Given the description of an element on the screen output the (x, y) to click on. 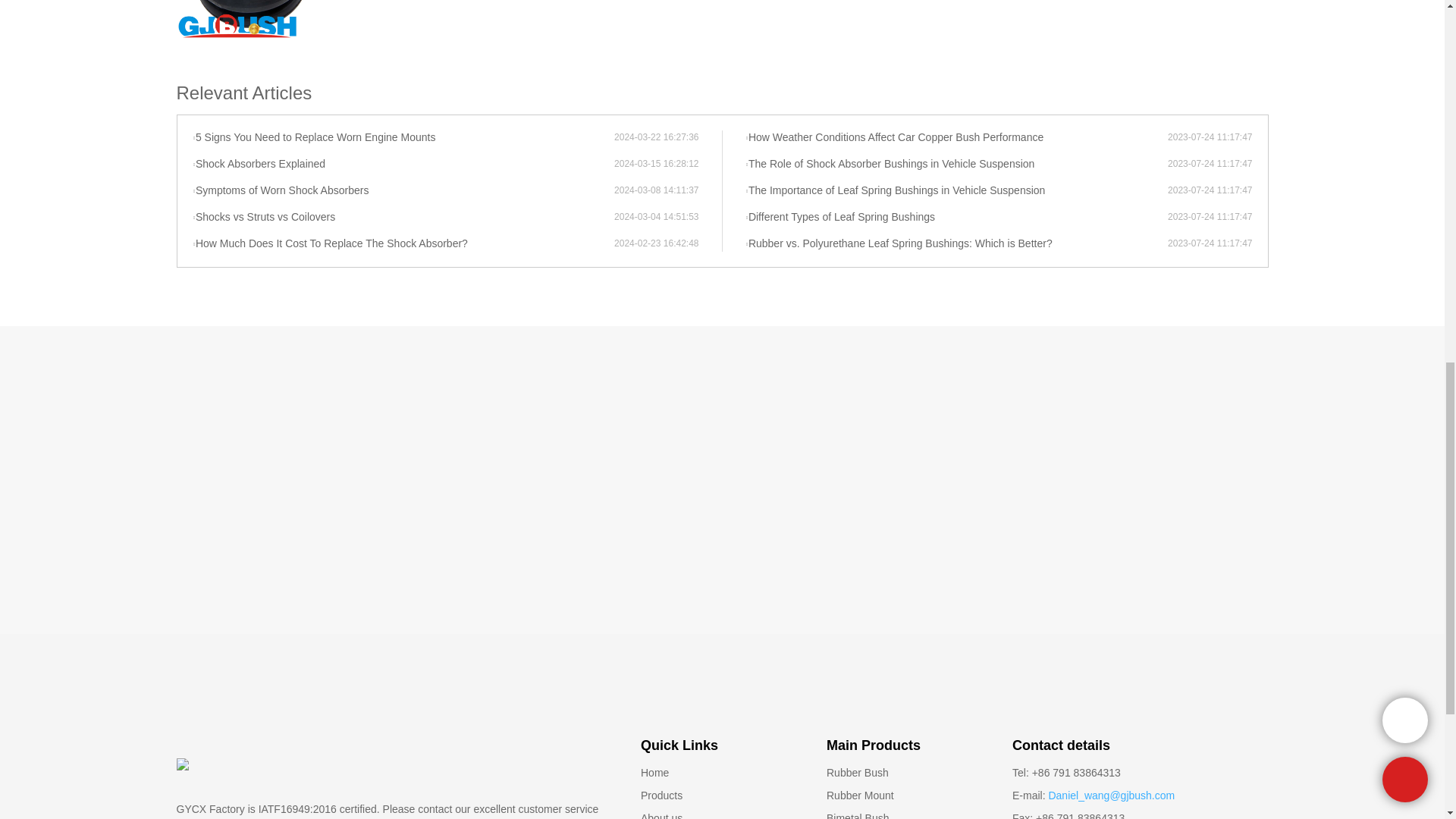
Symptoms of Worn Shock Absorbers (403, 191)
Shock Absorbers Explained (403, 164)
5 Signs You Need to Replace Worn Engine Mounts (403, 137)
